Given the description of an element on the screen output the (x, y) to click on. 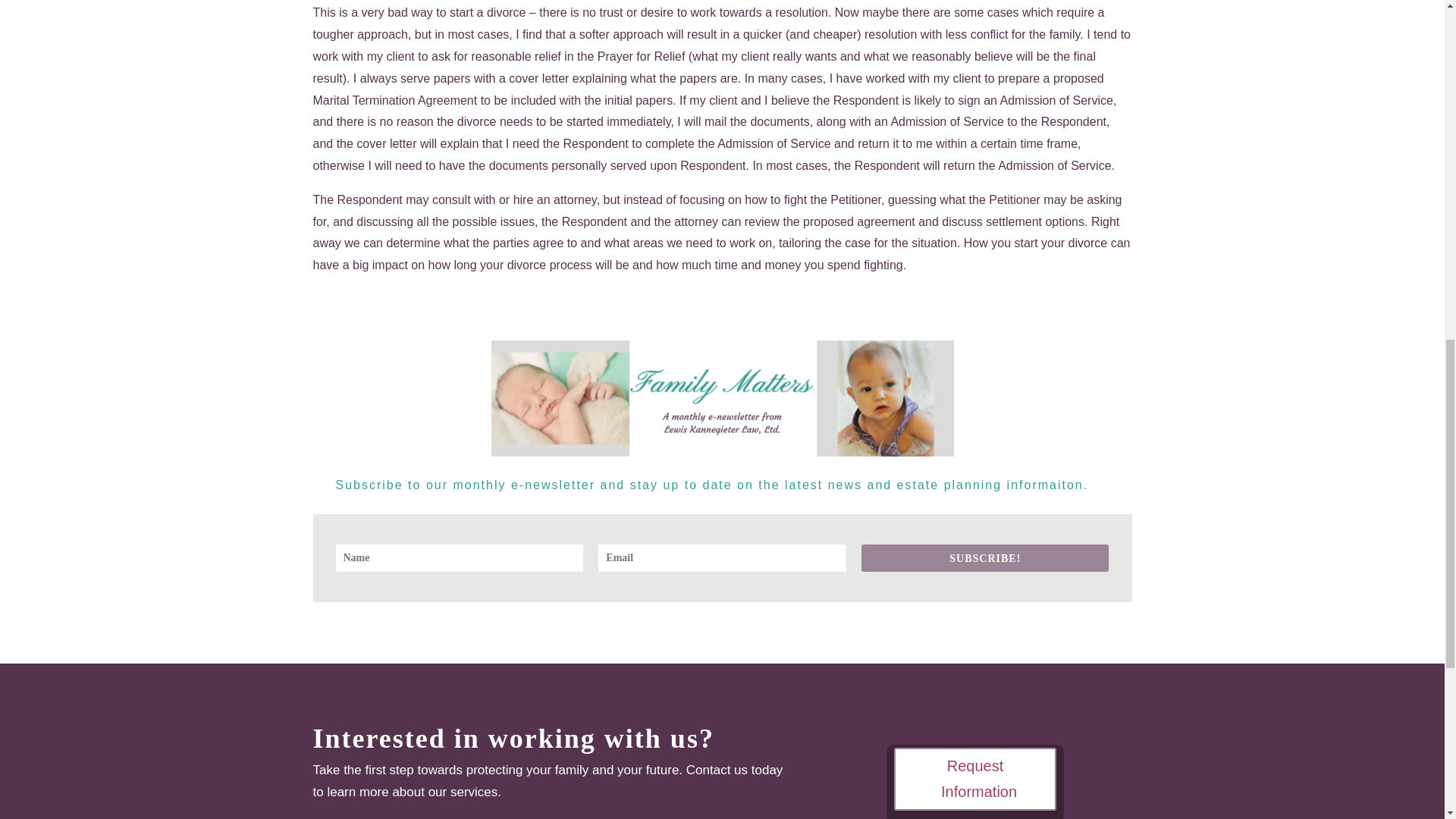
SUBSCRIBE! (984, 557)
Request Information (975, 778)
